Given the description of an element on the screen output the (x, y) to click on. 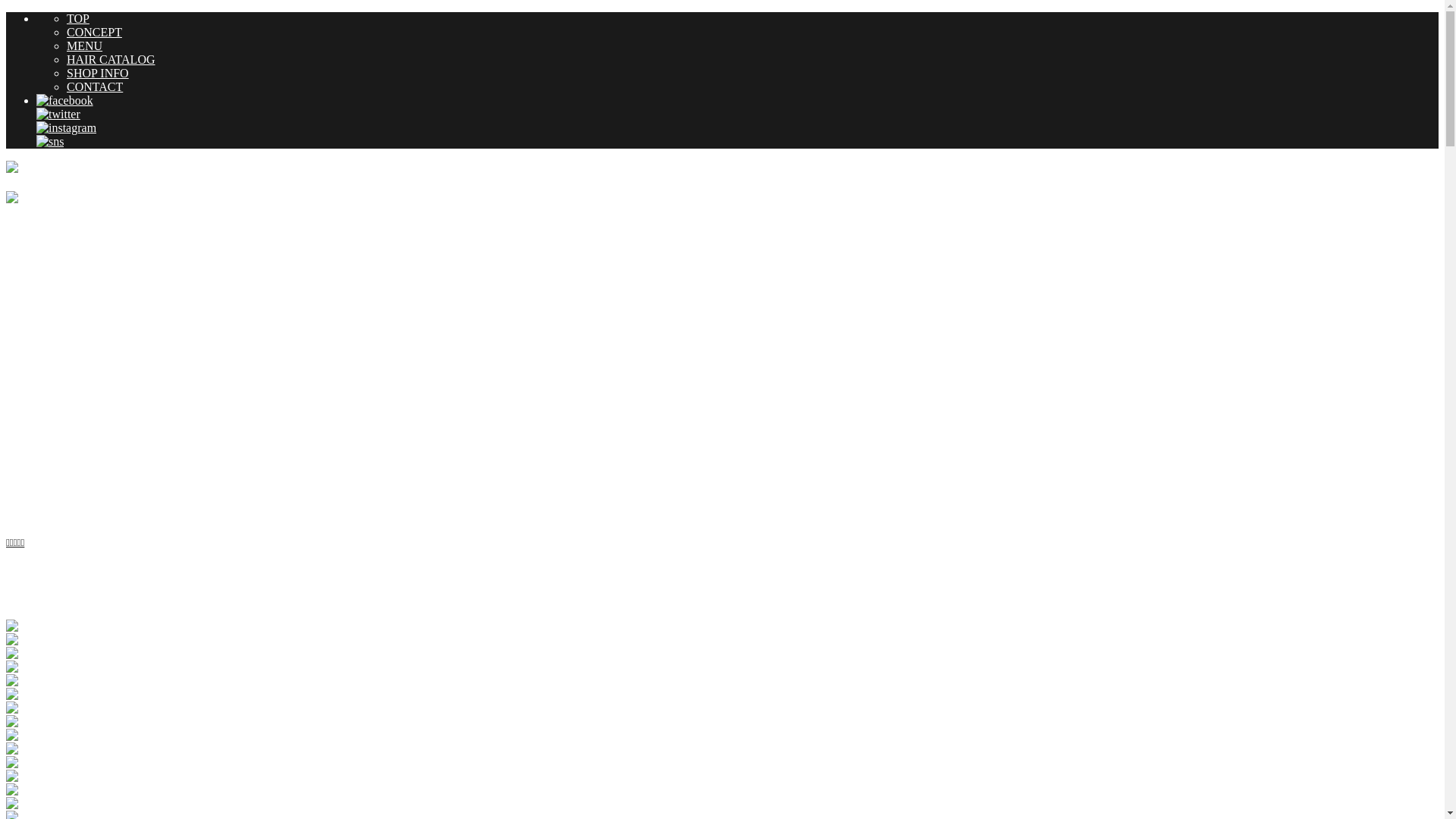
CONCEPT Element type: text (94, 31)
twitter Element type: hover (58, 113)
instagram Element type: hover (66, 127)
CONTACT Element type: text (94, 86)
SHOP INFO Element type: text (97, 72)
facebook Element type: hover (64, 100)
MENU Element type: text (84, 45)
TOP Element type: text (77, 18)
LINE Element type: hover (49, 140)
HAIR CATALOG Element type: text (110, 59)
